Given the description of an element on the screen output the (x, y) to click on. 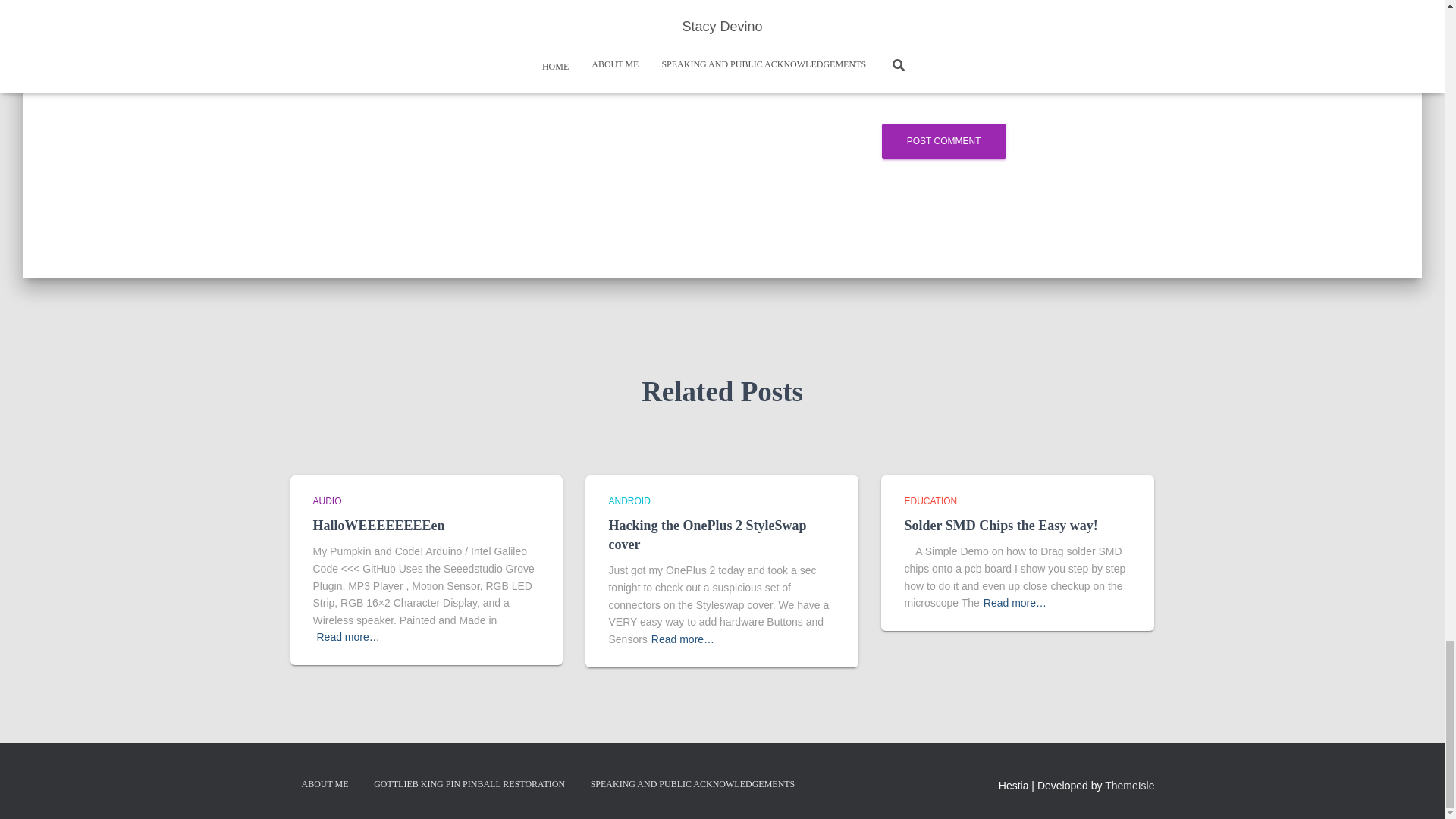
EDUCATION (930, 501)
View all posts in Education (930, 501)
Hacking the OnePlus 2 StyleSwap cover (707, 534)
Post Comment (944, 140)
SPEAKING AND PUBLIC ACKNOWLEDGEMENTS (692, 784)
HalloWEEEEEEEEen (378, 525)
GOTTLIEB KING PIN PINBALL RESTORATION (469, 784)
View all posts in Audio (326, 501)
ThemeIsle (1129, 785)
ABOUT ME (324, 784)
ANDROID (628, 501)
AUDIO (326, 501)
View all posts in Android (628, 501)
Hacking the OnePlus 2 StyleSwap cover (707, 534)
Solder SMD Chips the Easy way! (1000, 525)
